Given the description of an element on the screen output the (x, y) to click on. 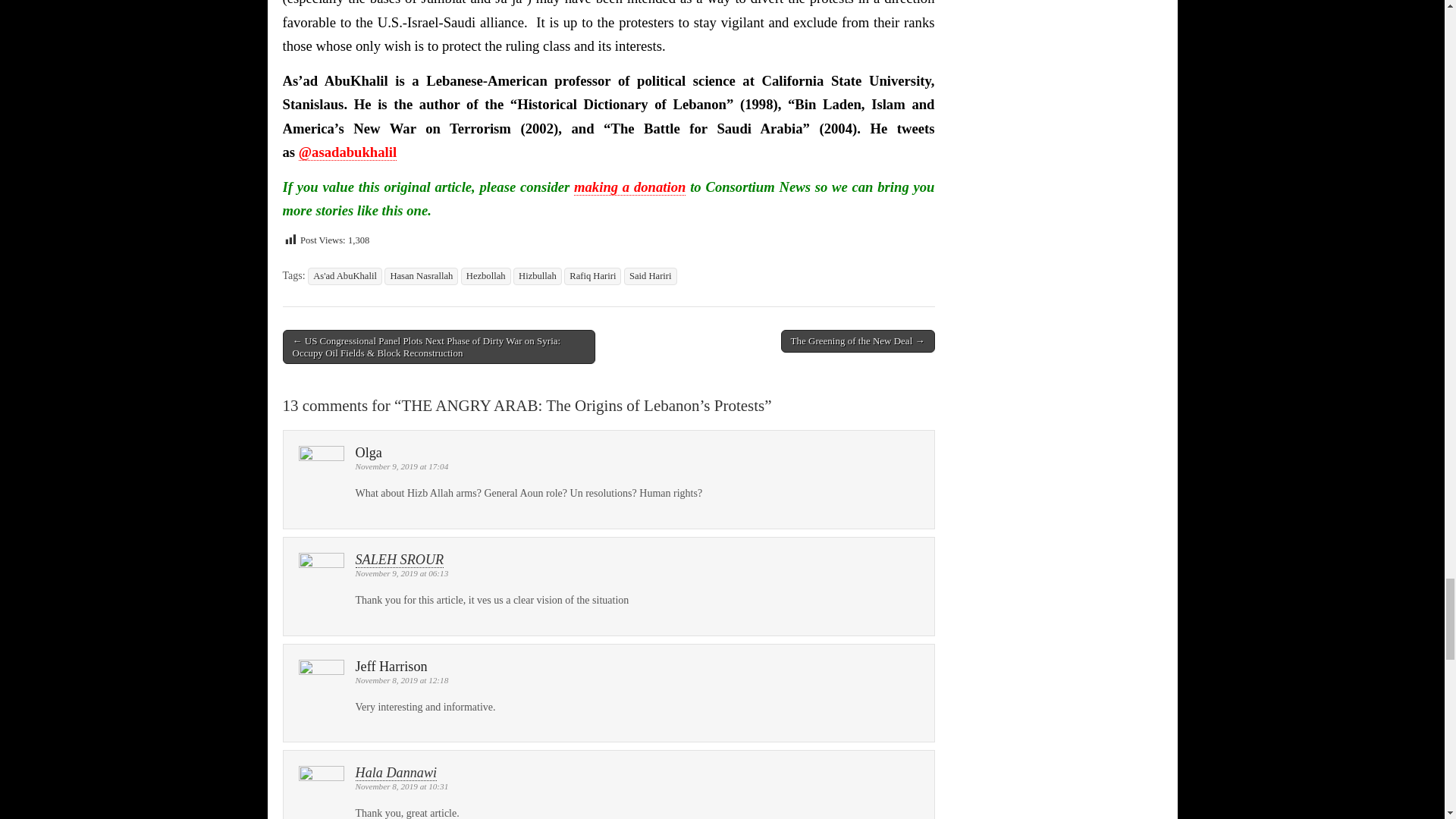
Hizbullah (537, 276)
As'ad AbuKhalil (344, 276)
Said Hariri (650, 276)
Rafiq Hariri (592, 276)
making a donation (629, 187)
Hasan Nasrallah (421, 276)
Hezbollah (486, 276)
